Given the description of an element on the screen output the (x, y) to click on. 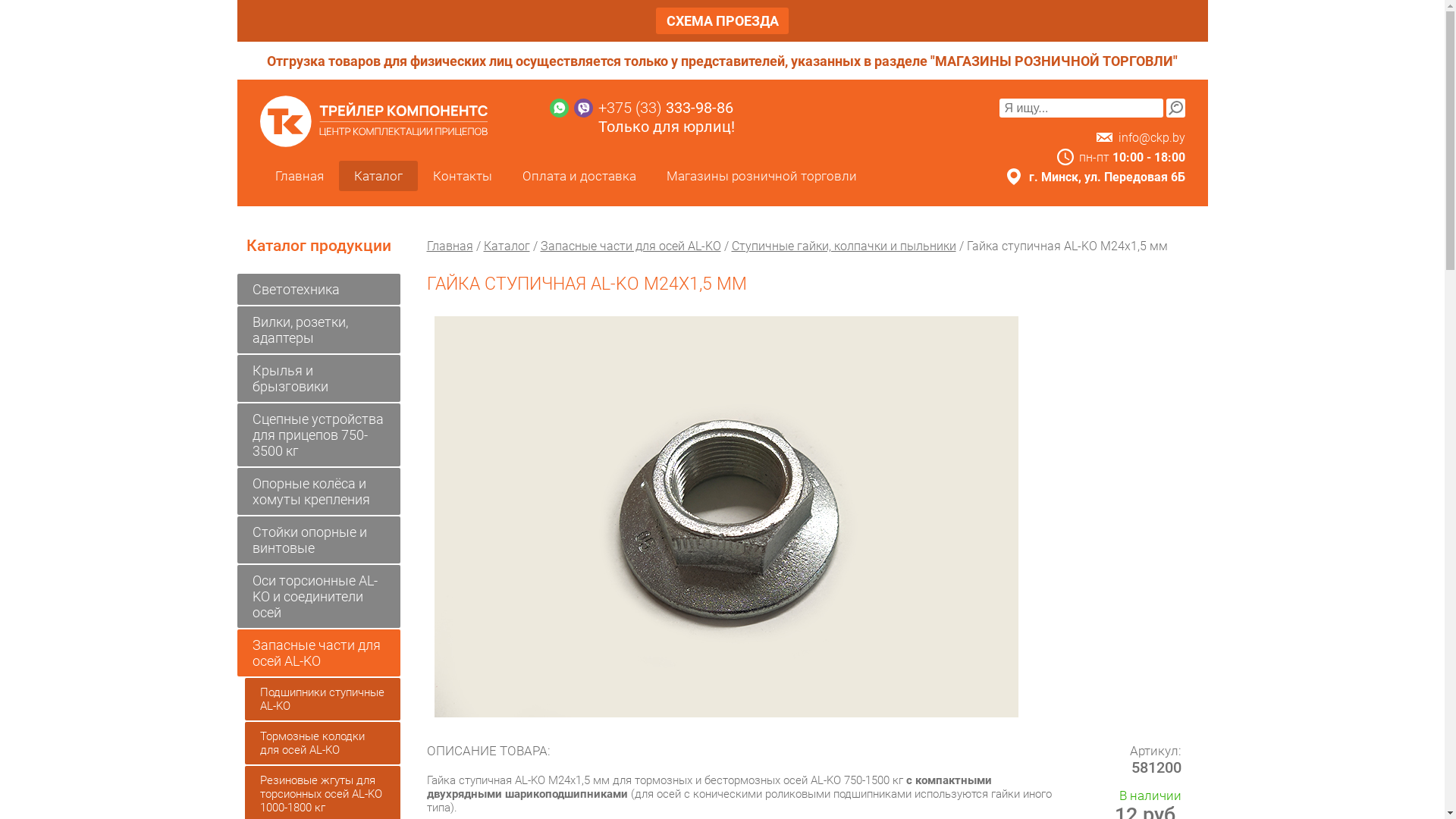
gayka m24 00.jpg Element type: hover (725, 516)
info@ckp.by Element type: text (1150, 137)
